Given the description of an element on the screen output the (x, y) to click on. 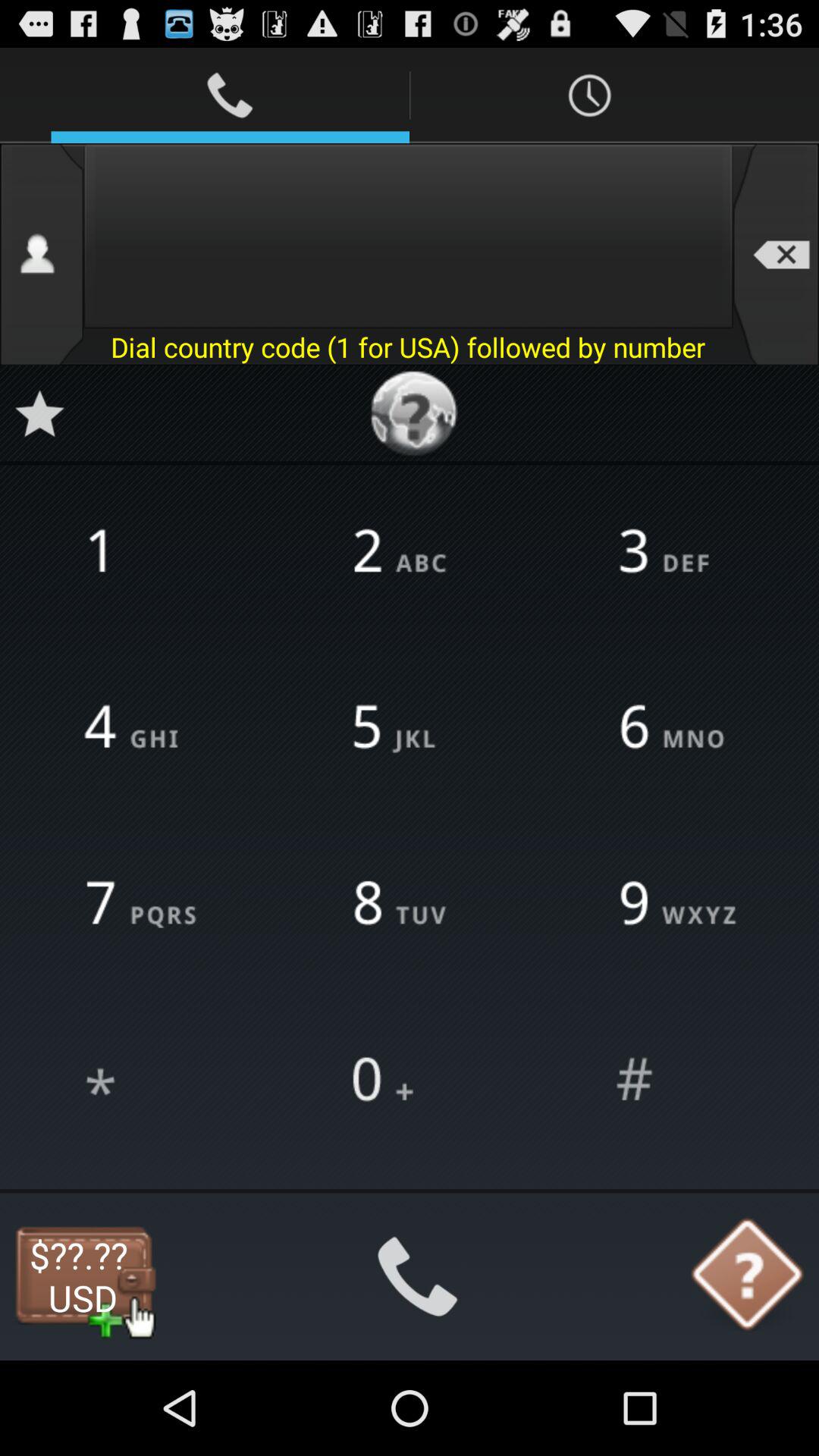
click on  (143, 1080)
click on the number 7 (143, 904)
click on the number 5 (409, 728)
click on first icon from top right (589, 95)
select the button which on left to 5jkl (143, 728)
